Given the description of an element on the screen output the (x, y) to click on. 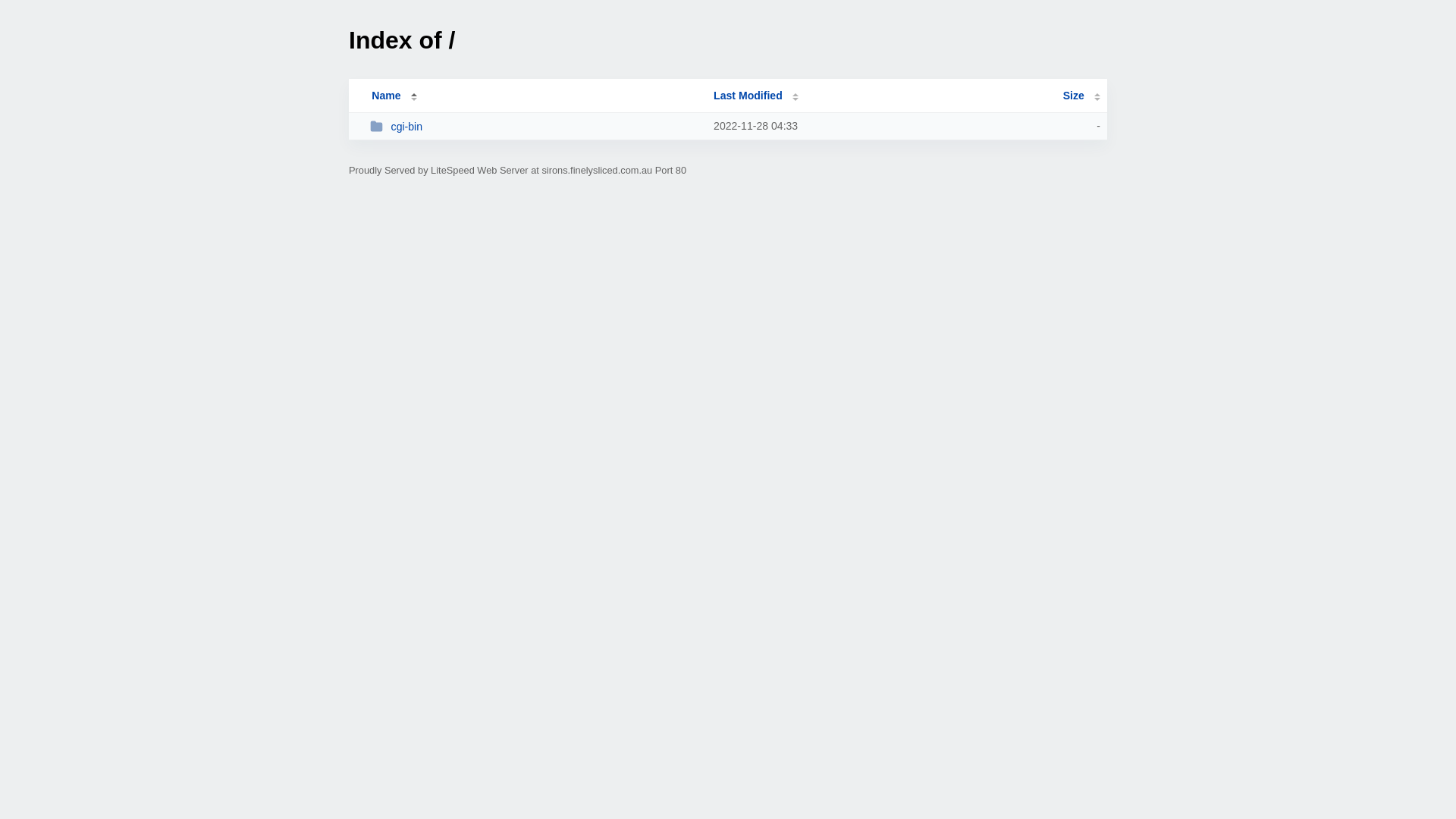
Last Modified Element type: text (755, 95)
cgi-bin Element type: text (534, 125)
Size Element type: text (1081, 95)
Name Element type: text (385, 95)
